Given the description of an element on the screen output the (x, y) to click on. 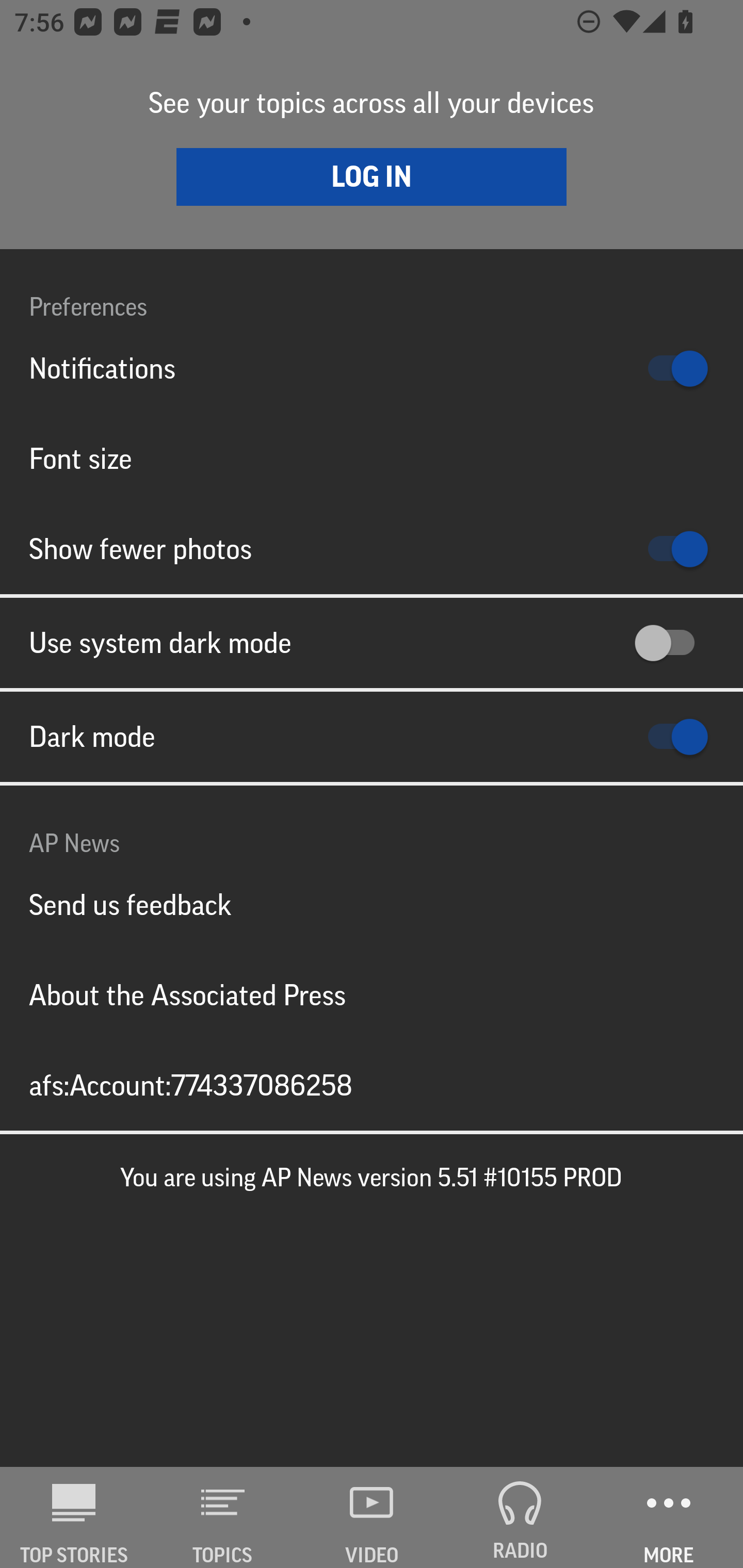
LOG IN (371, 176)
Notifications (371, 368)
Font size (371, 458)
Show fewer photos (371, 548)
Use system dark mode (371, 642)
Dark mode (371, 736)
Send us feedback (371, 904)
About the Associated Press (371, 994)
afs:Account:774337086258 (371, 1084)
AP News TOP STORIES (74, 1517)
TOPICS (222, 1517)
VIDEO (371, 1517)
RADIO (519, 1517)
MORE (668, 1517)
